Given the description of an element on the screen output the (x, y) to click on. 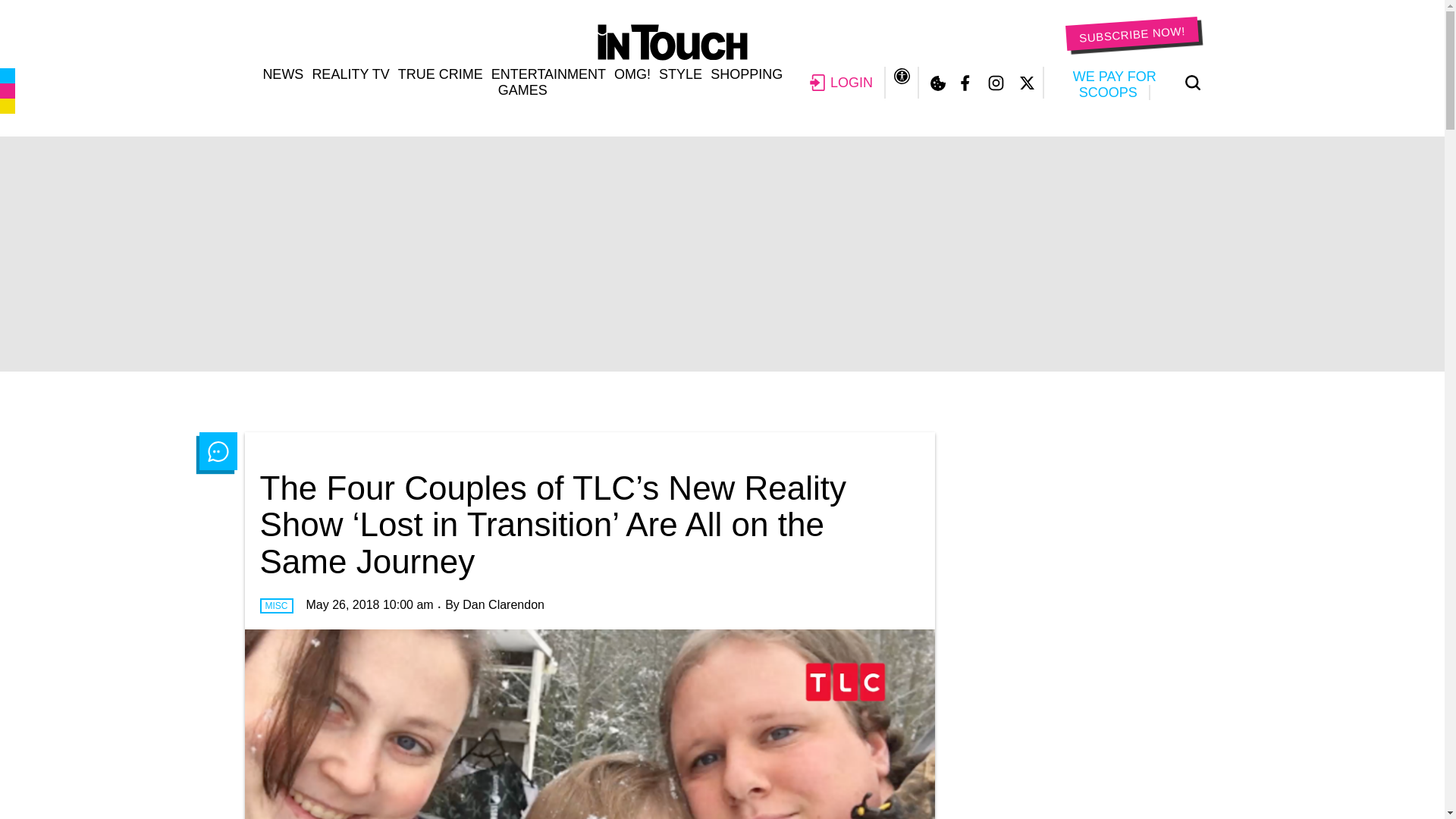
TRUE CRIME (440, 73)
Posts by Dan Clarendon (503, 604)
NEWS (282, 73)
REALITY TV (349, 73)
